Given the description of an element on the screen output the (x, y) to click on. 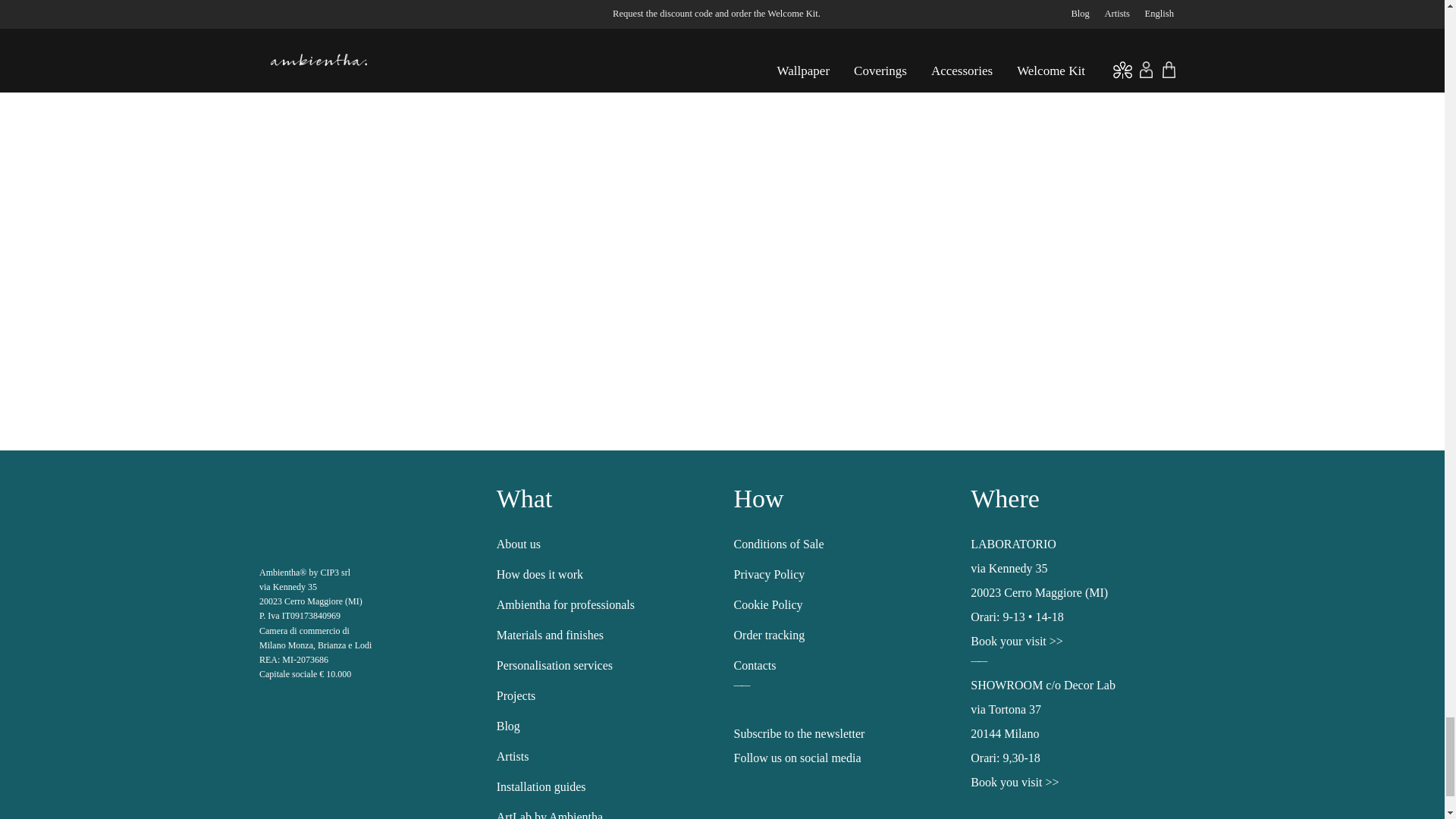
carta-da-parati-design-rivestimenti-adesivi-ambientha-MK02 (959, 18)
a bianco (334, 510)
